Given the description of an element on the screen output the (x, y) to click on. 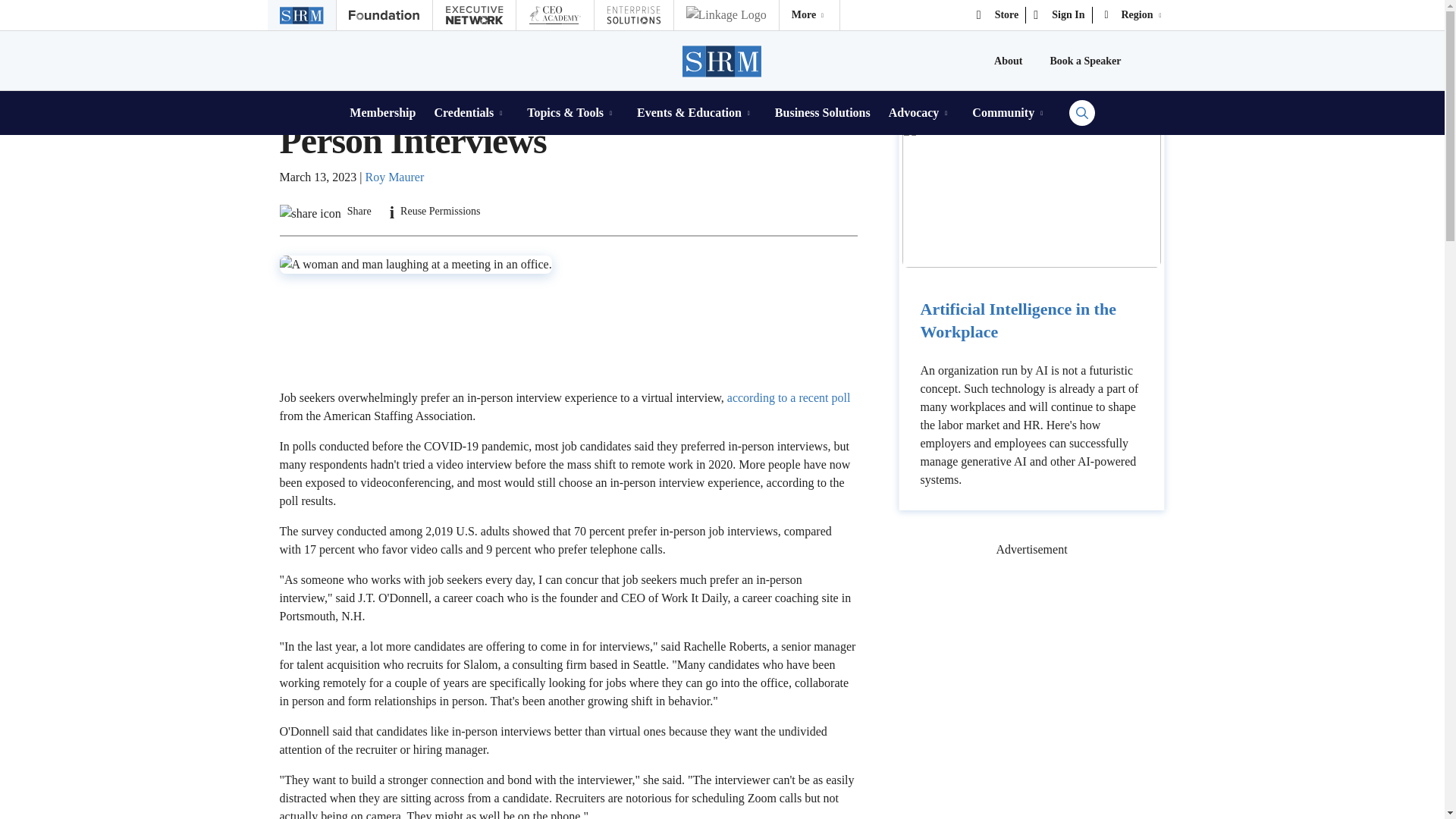
Sign In (1059, 15)
Region (1134, 15)
store (997, 15)
About (1008, 61)
Membership (381, 112)
Foundation (384, 15)
Book a Speaker (1085, 61)
Linkage (724, 15)
Credentials (470, 112)
Enterprise Solutions (633, 15)
